Given the description of an element on the screen output the (x, y) to click on. 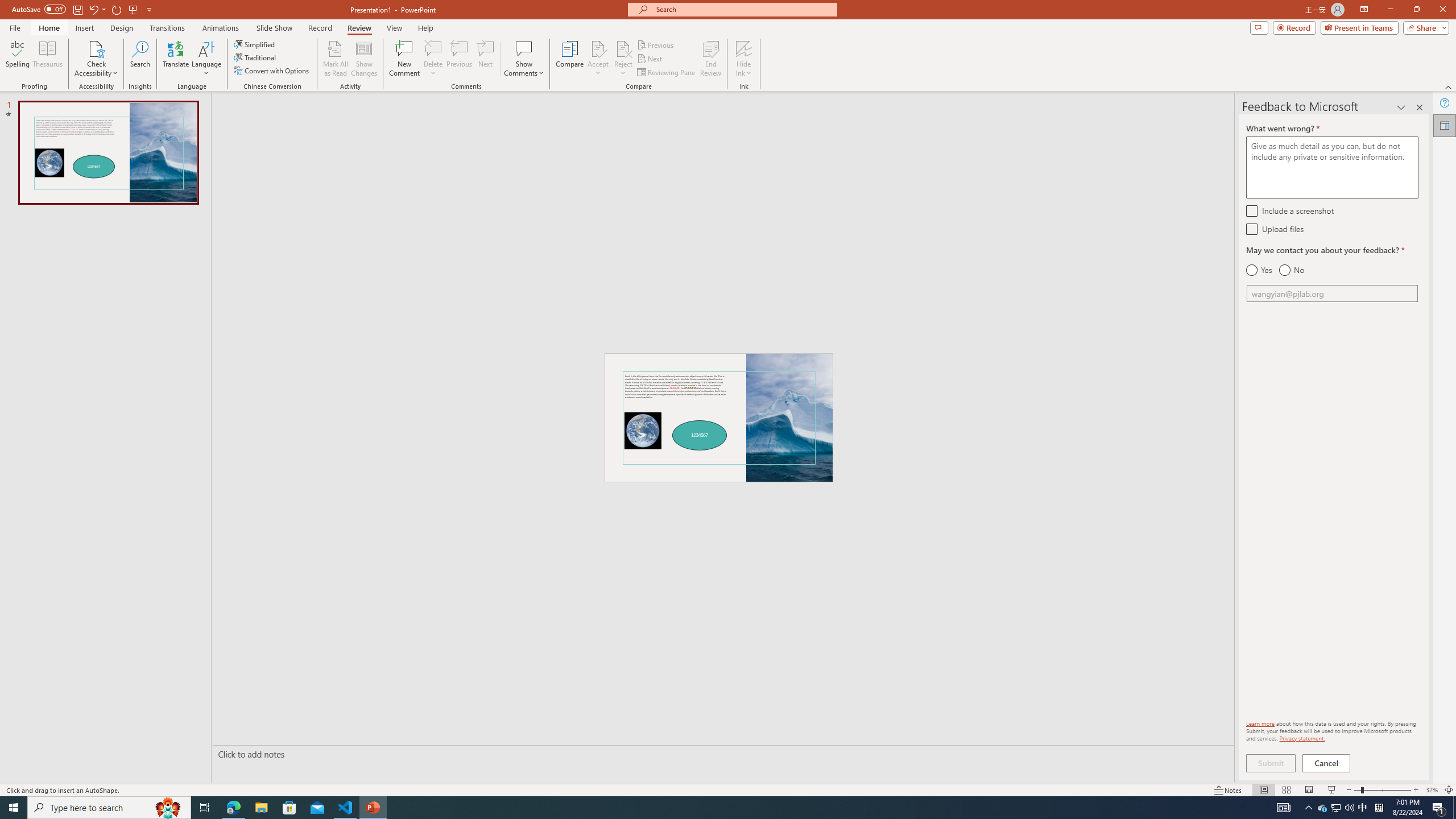
Language (206, 58)
Email (1332, 293)
Reject (622, 58)
What went wrong? * (1332, 167)
Reviewing Pane (666, 72)
Hide Ink (743, 48)
Check Accessibility (95, 48)
Collapse the Ribbon (1448, 86)
Delete (432, 58)
Learn more (1260, 723)
Compare (569, 58)
Include a screenshot (1251, 210)
